Given the description of an element on the screen output the (x, y) to click on. 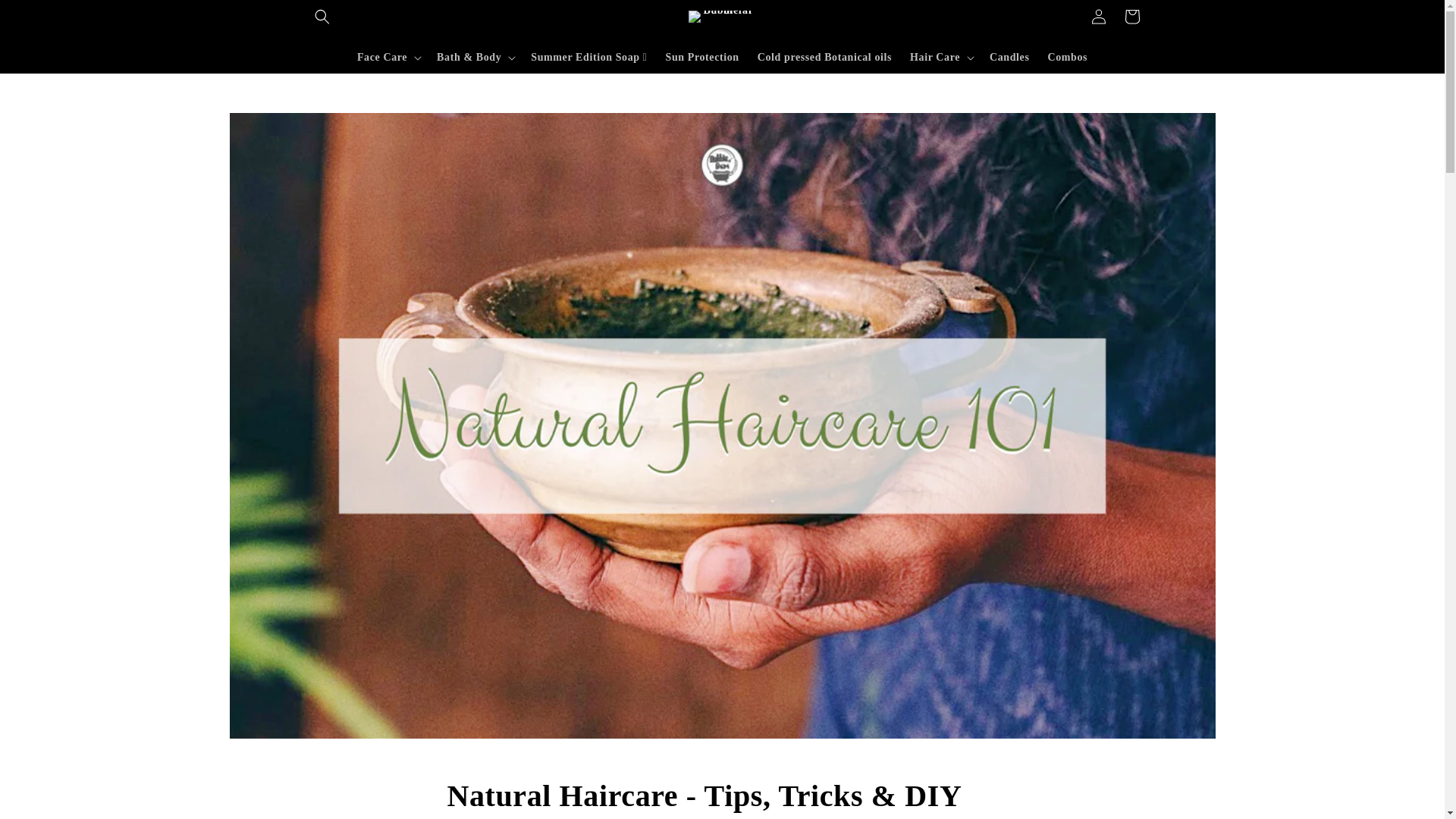
Skip to content (46, 18)
